Given the description of an element on the screen output the (x, y) to click on. 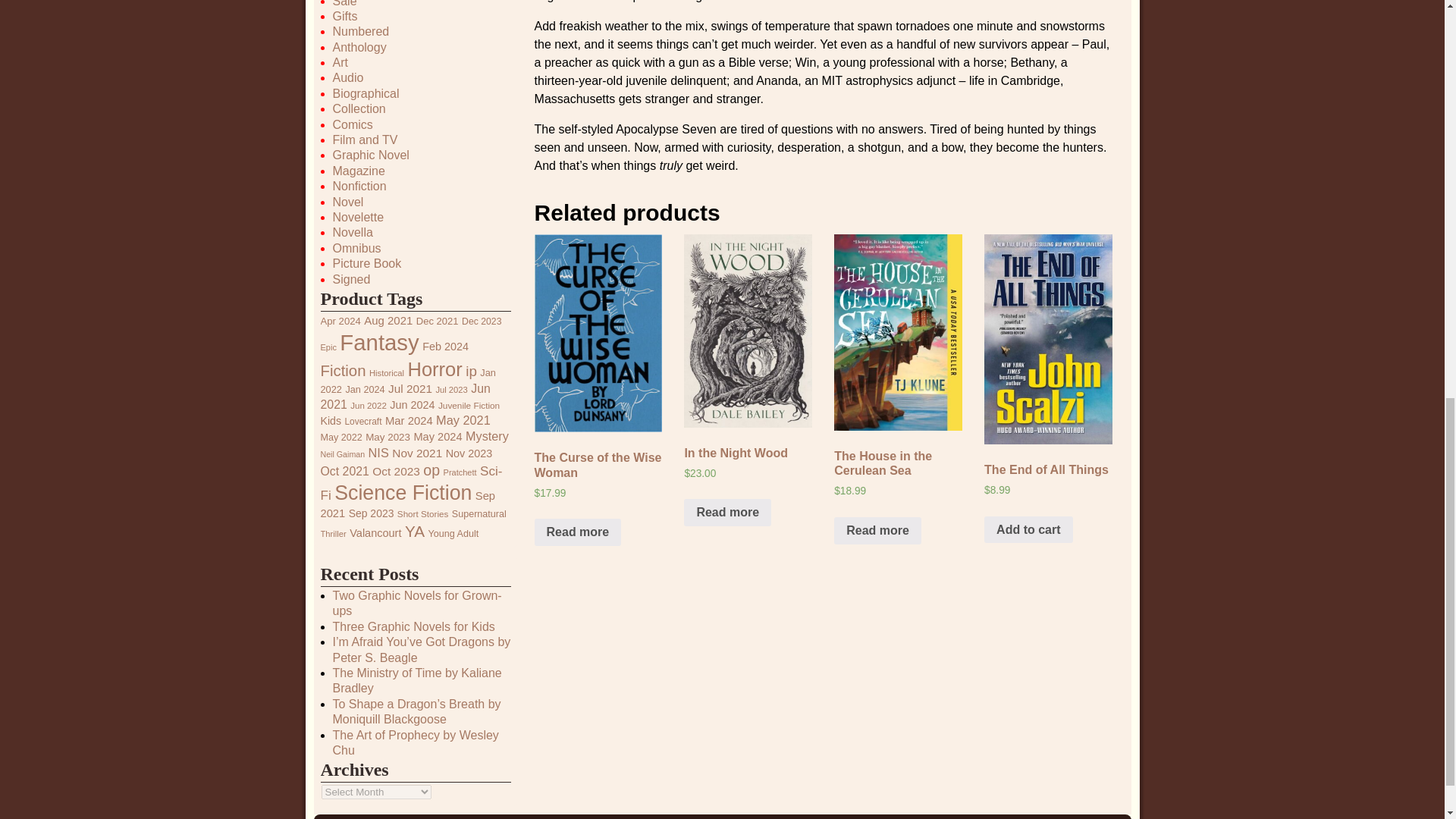
Add to cart (1027, 529)
Read more (877, 530)
Read more (727, 512)
Read more (577, 532)
